Given the description of an element on the screen output the (x, y) to click on. 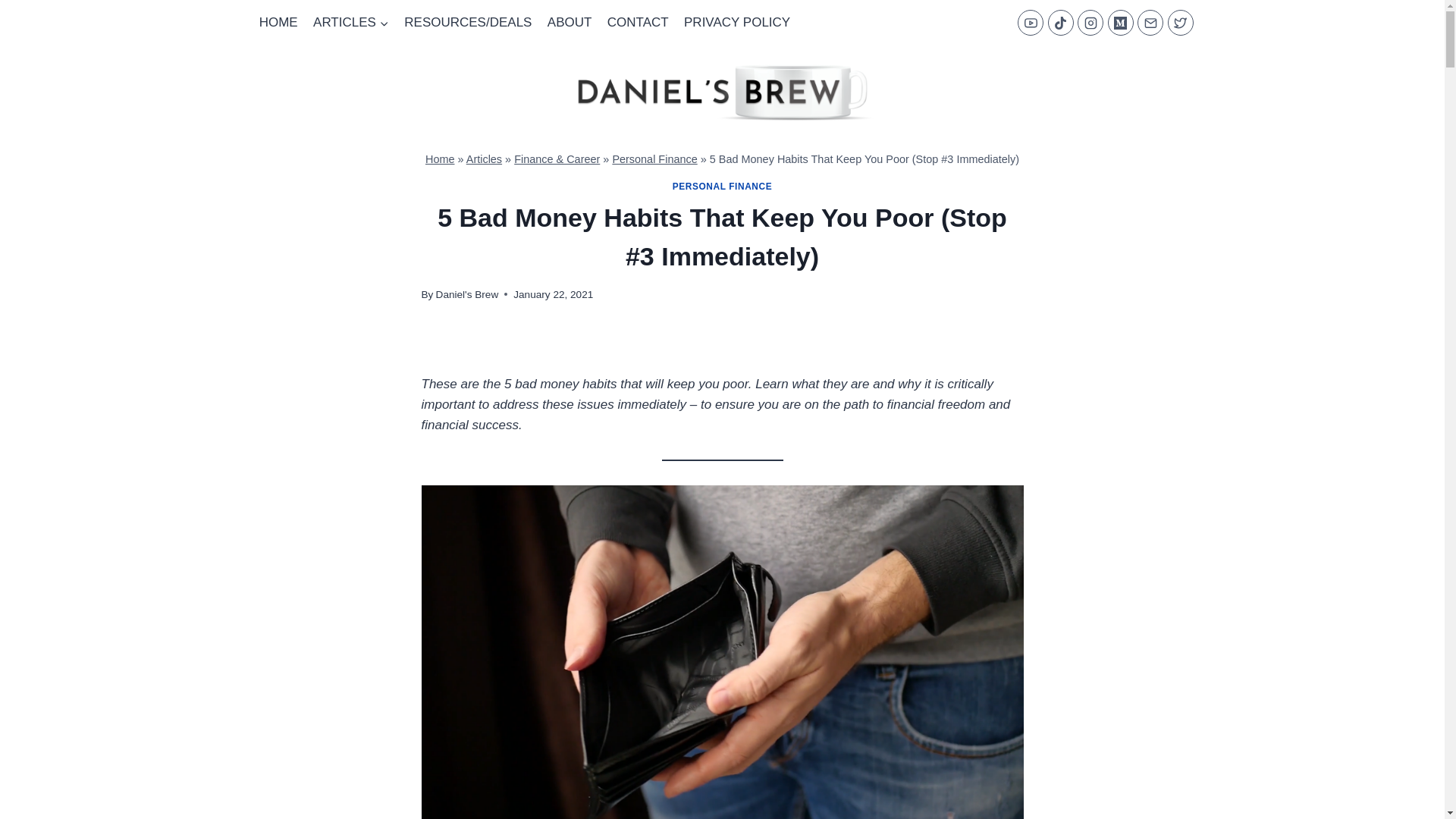
Daniel's Brew (467, 294)
Personal Finance (654, 159)
ABOUT (569, 22)
HOME (278, 22)
Home (439, 159)
Articles (483, 159)
PRIVACY POLICY (737, 22)
ARTICLES (350, 22)
CONTACT (638, 22)
PERSONAL FINANCE (722, 185)
